Given the description of an element on the screen output the (x, y) to click on. 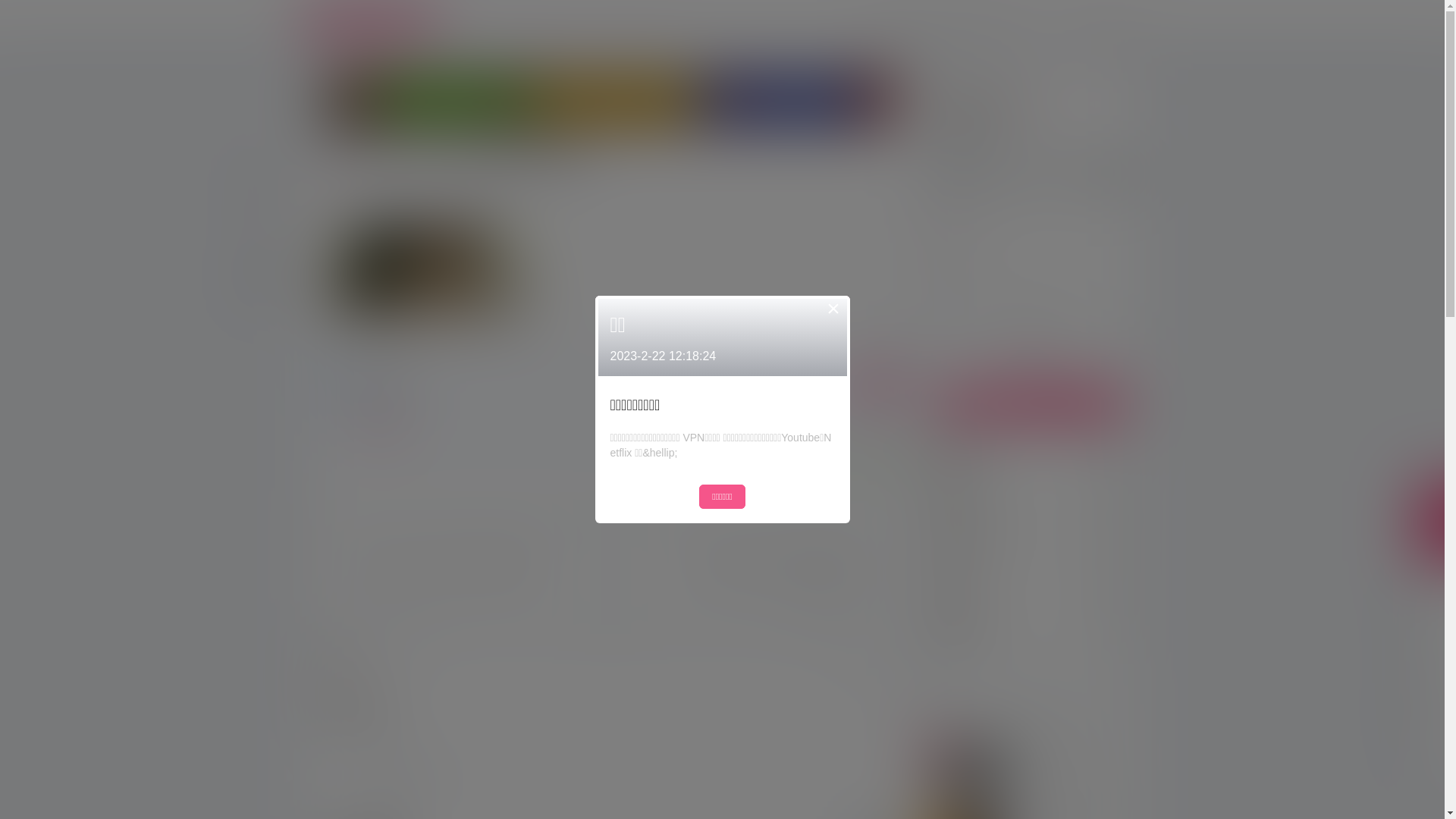
0 Element type: text (381, 774)
imlanbo Element type: text (990, 534)
jimets Element type: text (986, 443)
Zjab Element type: text (982, 625)
0 Element type: text (427, 774)
ok Element type: text (10, 10)
